Given the description of an element on the screen output the (x, y) to click on. 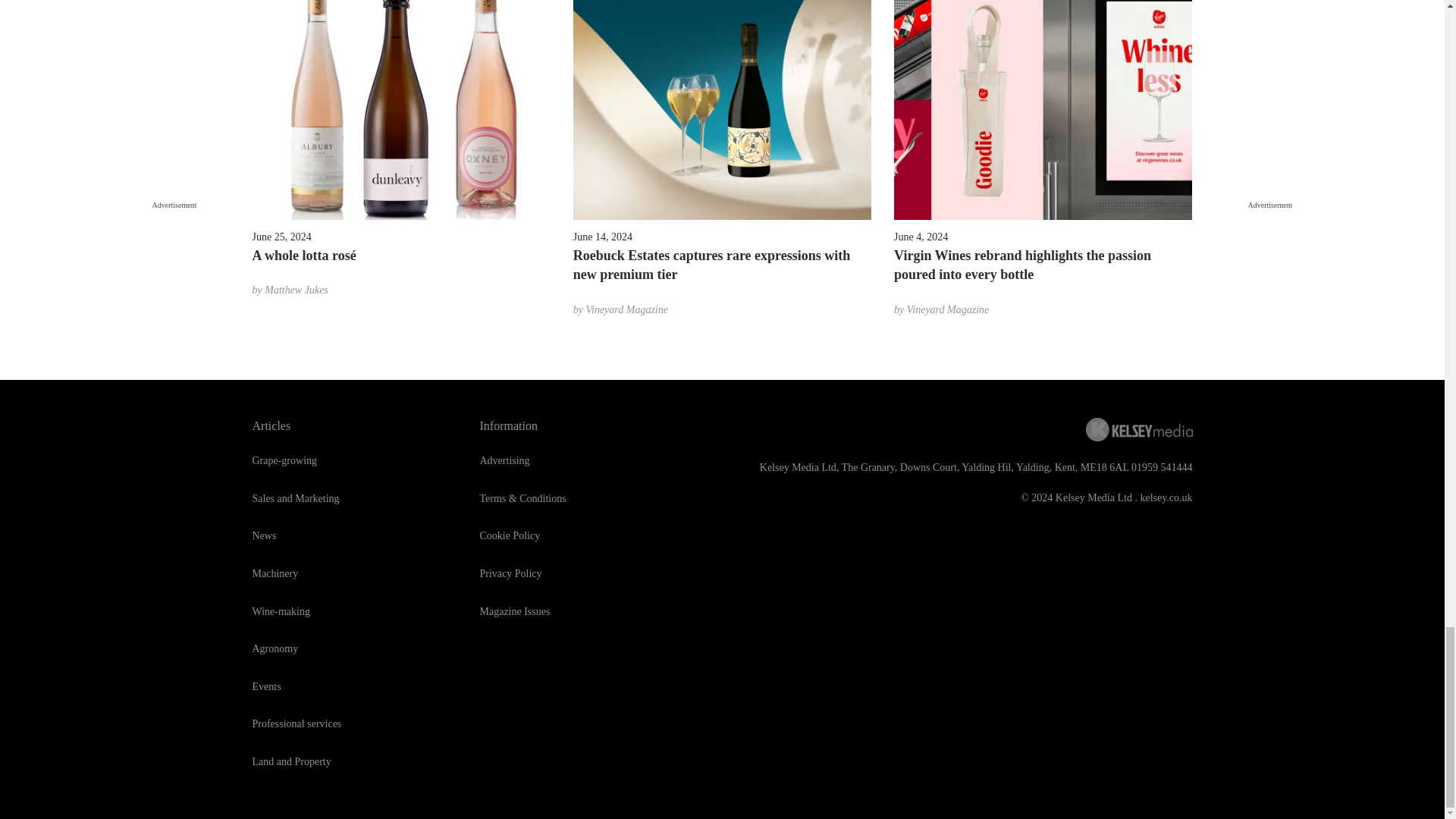
Grape-growing (284, 460)
